Given the description of an element on the screen output the (x, y) to click on. 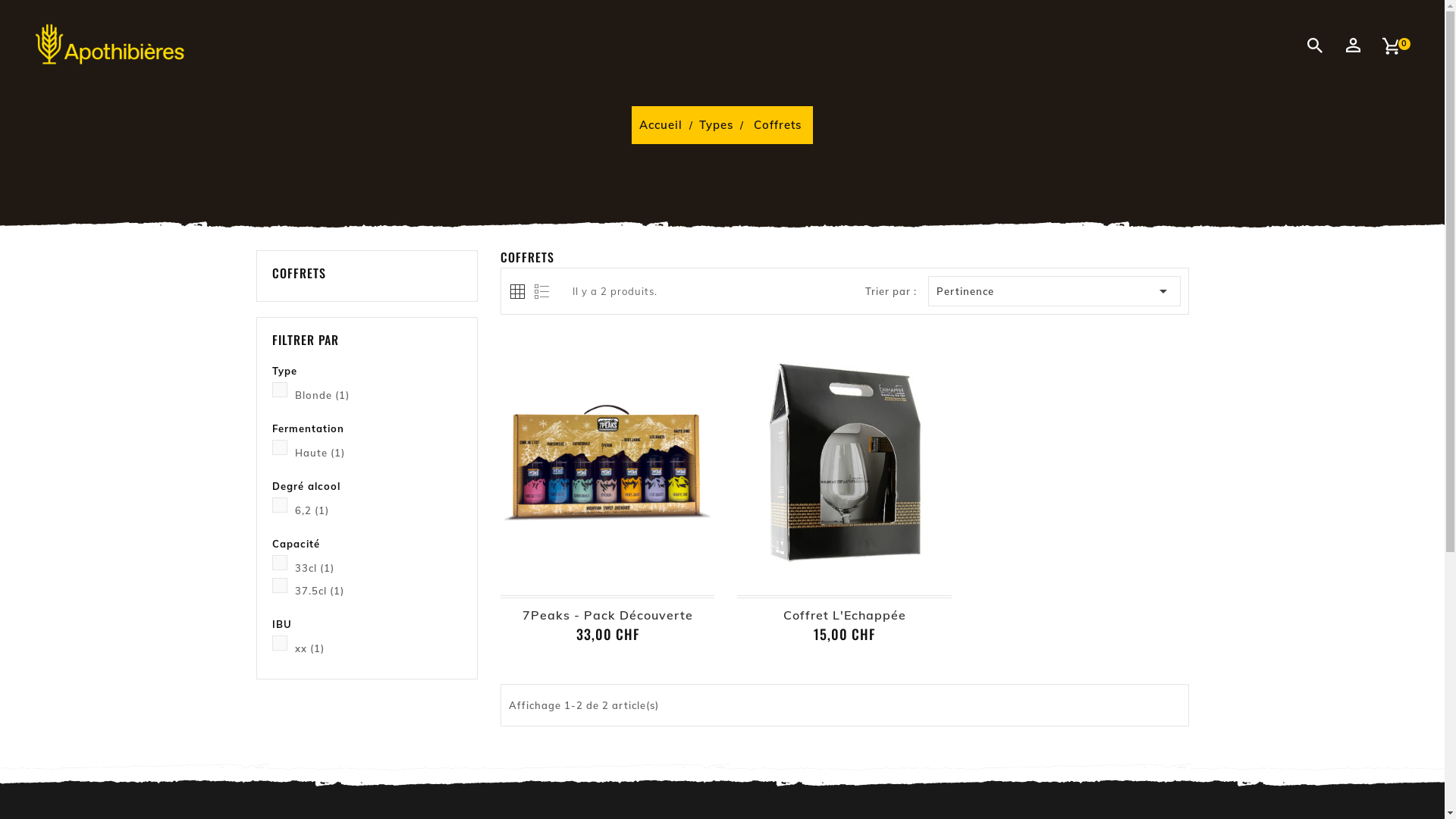
COFFRETS Element type: text (366, 272)
Accueil Element type: text (662, 124)
xx (1) Element type: text (377, 647)
Blonde (1) Element type: text (377, 394)
37.5cl (1) Element type: text (377, 590)
Coffrets Element type: text (777, 124)
Types Element type: text (718, 124)
6,2 (1) Element type: text (377, 509)
Haute (1) Element type: text (377, 452)
33cl (1) Element type: text (377, 567)
